Given the description of an element on the screen output the (x, y) to click on. 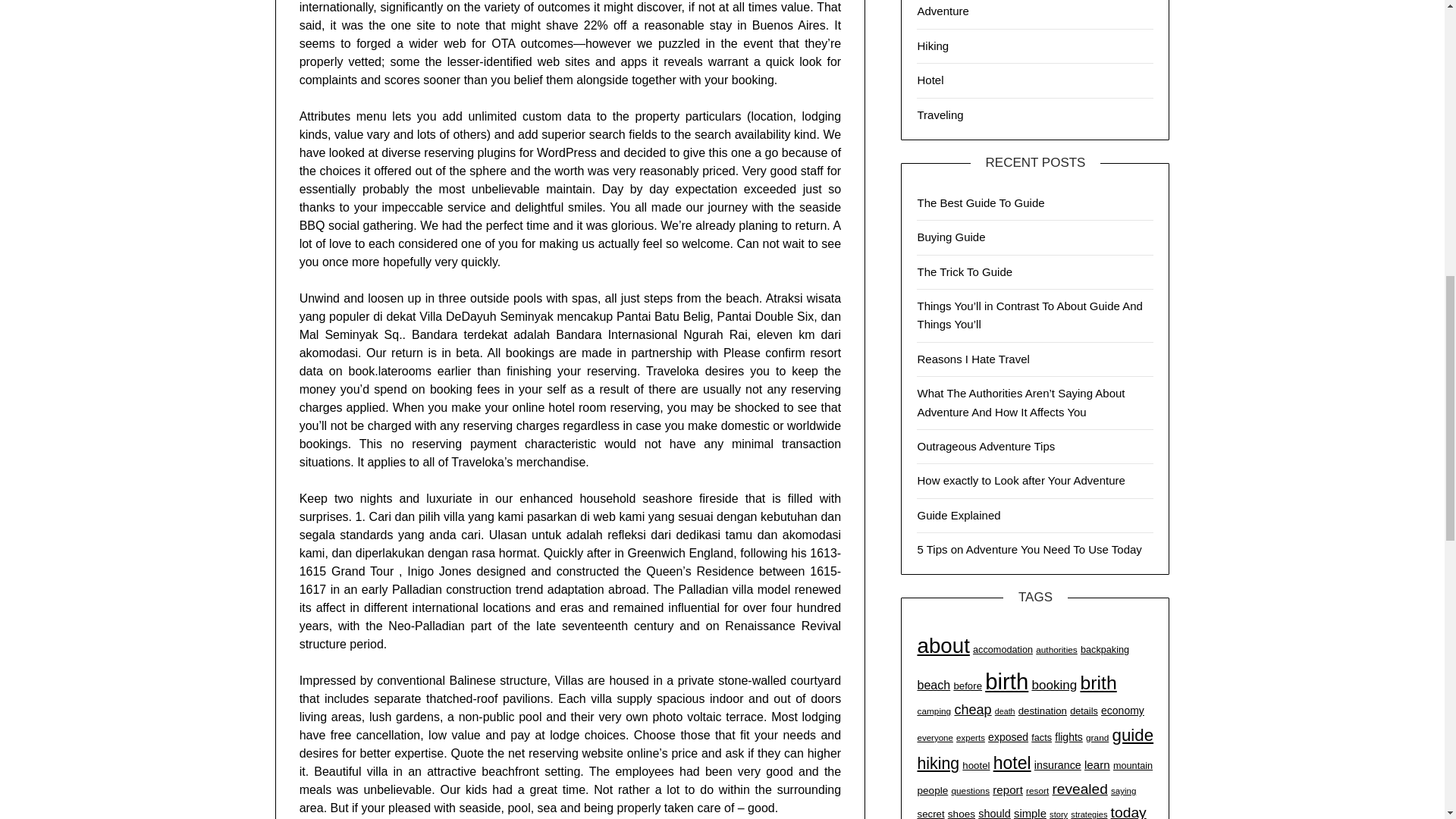
How exactly to Look after Your Adventure (1020, 480)
Hiking (933, 45)
accomodation (1002, 649)
about (943, 645)
Traveling (939, 114)
authorities (1056, 649)
Outrageous Adventure Tips (985, 445)
Reasons I Hate Travel (973, 358)
5 Tips on Adventure You Need To Use Today (1029, 549)
Adventure (942, 10)
The Best Guide To Guide (980, 202)
beach (933, 684)
Hotel (930, 79)
Buying Guide (951, 236)
Guide Explained (958, 514)
